Given the description of an element on the screen output the (x, y) to click on. 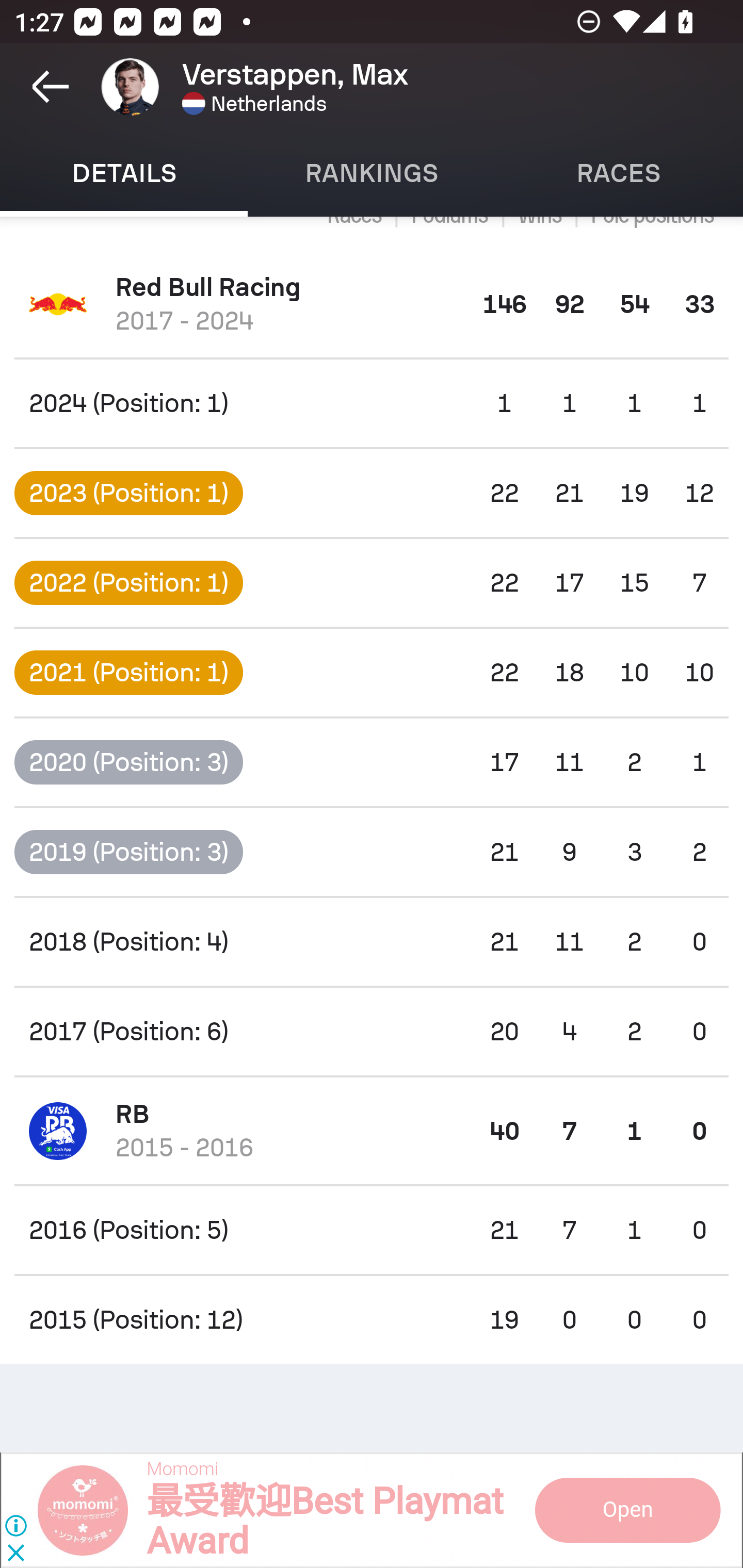
Navigate up (50, 86)
Rankings RANKINGS (371, 173)
Races RACES (619, 173)
Red Bull Racing 2017 - 2024 146 92 54 33 (371, 303)
2024 (Position: 1) 1 1 1 1 (371, 402)
2023 (Position: 1) 22 21 19 12 (371, 493)
2022 (Position: 1) 22 17 15 7 (371, 583)
2021 (Position: 1) 22 18 10 10 (371, 672)
2020 (Position: 3) 17 11 2 1 (371, 761)
2019 (Position: 3) 21 9 3 2 (371, 851)
2018 (Position: 4) 21 11 2 0 (371, 942)
2017 (Position: 6) 20 4 2 0 (371, 1031)
RB 2015 - 2016 40 7 1 0 (371, 1130)
2016 (Position: 5) 21 7 1 0 (371, 1229)
2015 (Position: 12) 19 0 0 0 (371, 1320)
Momomi (181, 1469)
momomijapan (92, 1509)
momomijapan (626, 1509)
最受歡迎Best Playmat Award 最受歡迎Best Playmat Award (323, 1521)
